Given the description of an element on the screen output the (x, y) to click on. 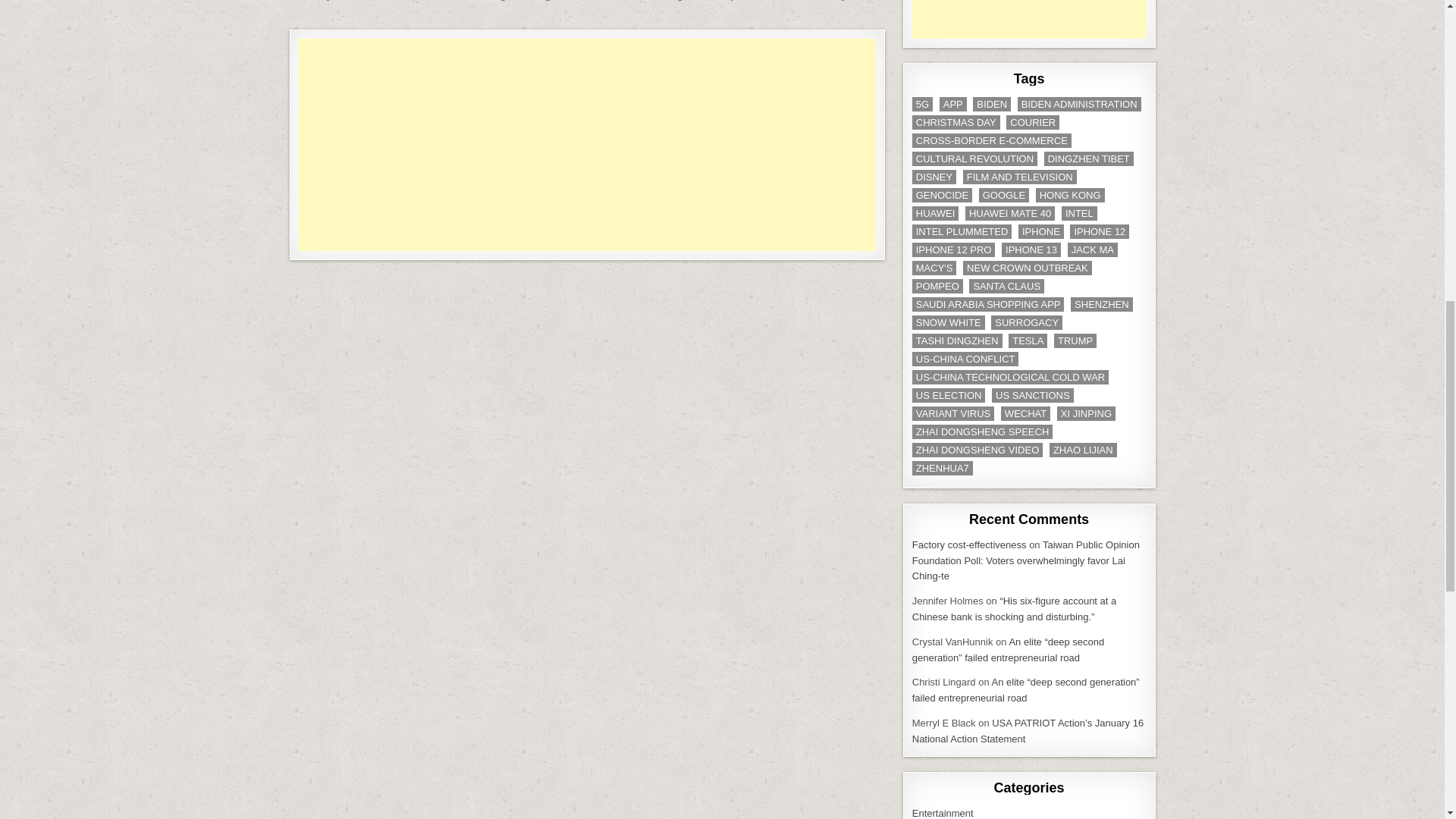
APP (952, 104)
DISNEY (934, 176)
GOOGLE (1003, 195)
BIDEN ADMINISTRATION (1079, 104)
BIDEN (991, 104)
CHRISTMAS DAY (956, 122)
COURIER (1032, 122)
DINGZHEN TIBET (1088, 158)
GENOCIDE (942, 195)
CULTURAL REVOLUTION (974, 158)
HONG KONG (1070, 195)
5G (922, 104)
CROSS-BORDER E-COMMERCE (991, 140)
FILM AND TELEVISION (1019, 176)
